Given the description of an element on the screen output the (x, y) to click on. 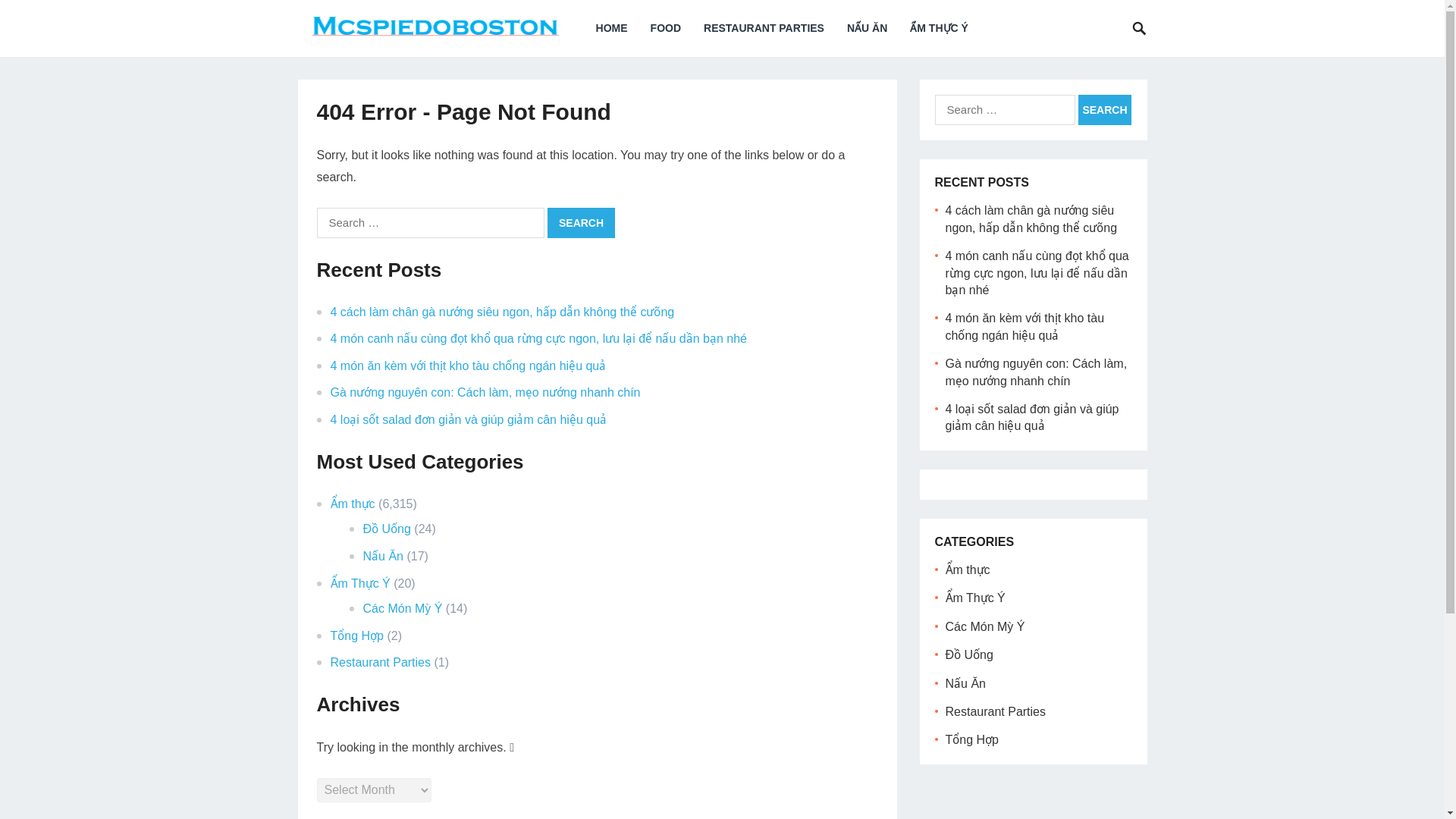
FOOD (666, 28)
Search (1104, 110)
Search (580, 223)
Search (1104, 110)
Restaurant Parties (380, 662)
Search (580, 223)
Search (580, 223)
RESTAURANT PARTIES (764, 28)
HOME (612, 28)
